Given the description of an element on the screen output the (x, y) to click on. 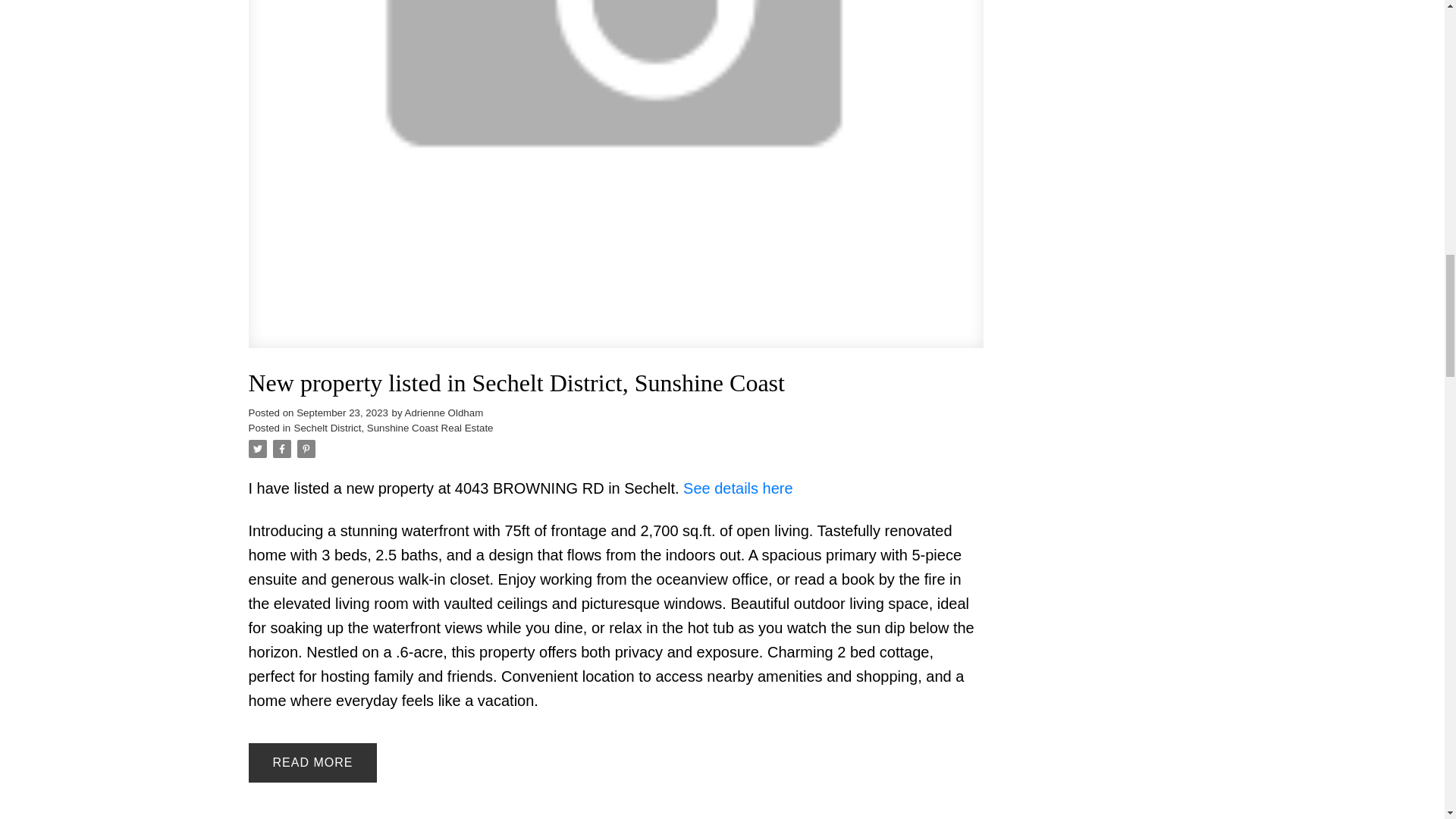
Sechelt District, Sunshine Coast Real Estate (393, 428)
New property listed in Sechelt District, Sunshine Coast (616, 383)
See details here (737, 487)
